Given the description of an element on the screen output the (x, y) to click on. 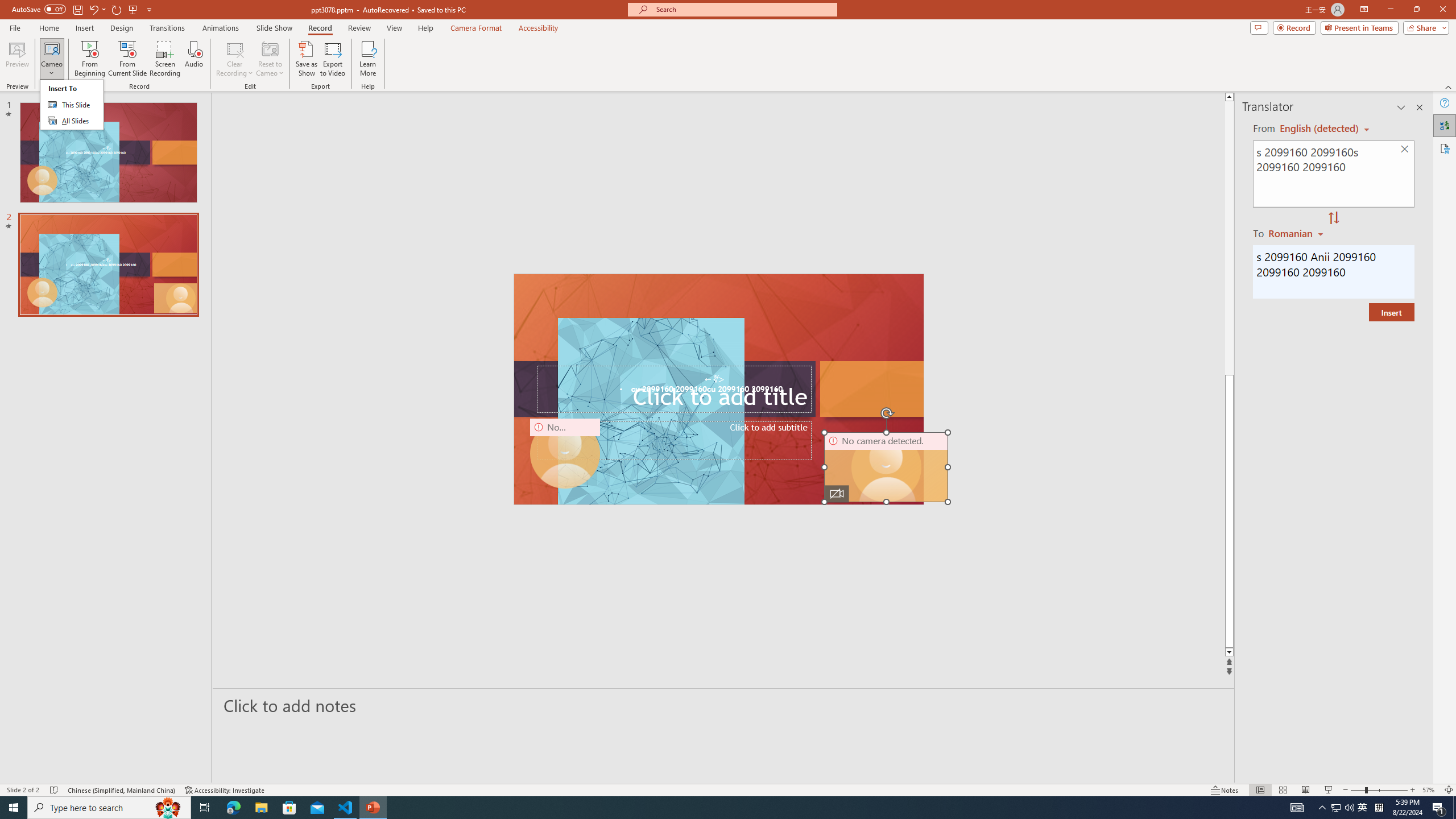
From Beginning... (89, 58)
Clear text (1404, 149)
Subtitle TextBox (673, 440)
Clear Recording (234, 58)
Export to Video (332, 58)
Title TextBox (673, 389)
